Given the description of an element on the screen output the (x, y) to click on. 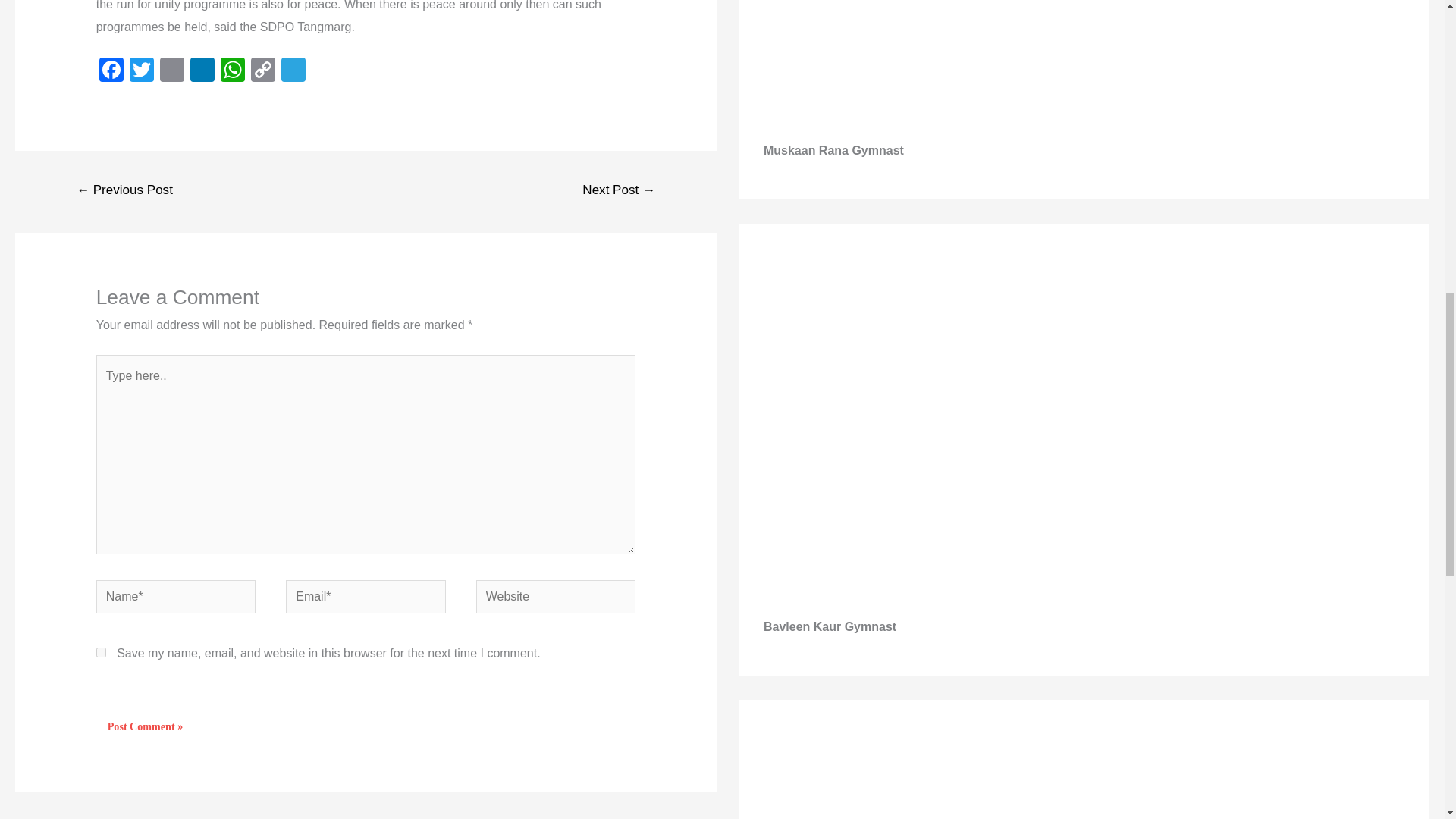
Twitter (141, 71)
LinkedIn (201, 71)
WhatsApp (231, 71)
Facebook (111, 71)
Copy Link (262, 71)
Email (172, 71)
Twitter (141, 71)
yes (101, 652)
Facebook (111, 71)
